Given the description of an element on the screen output the (x, y) to click on. 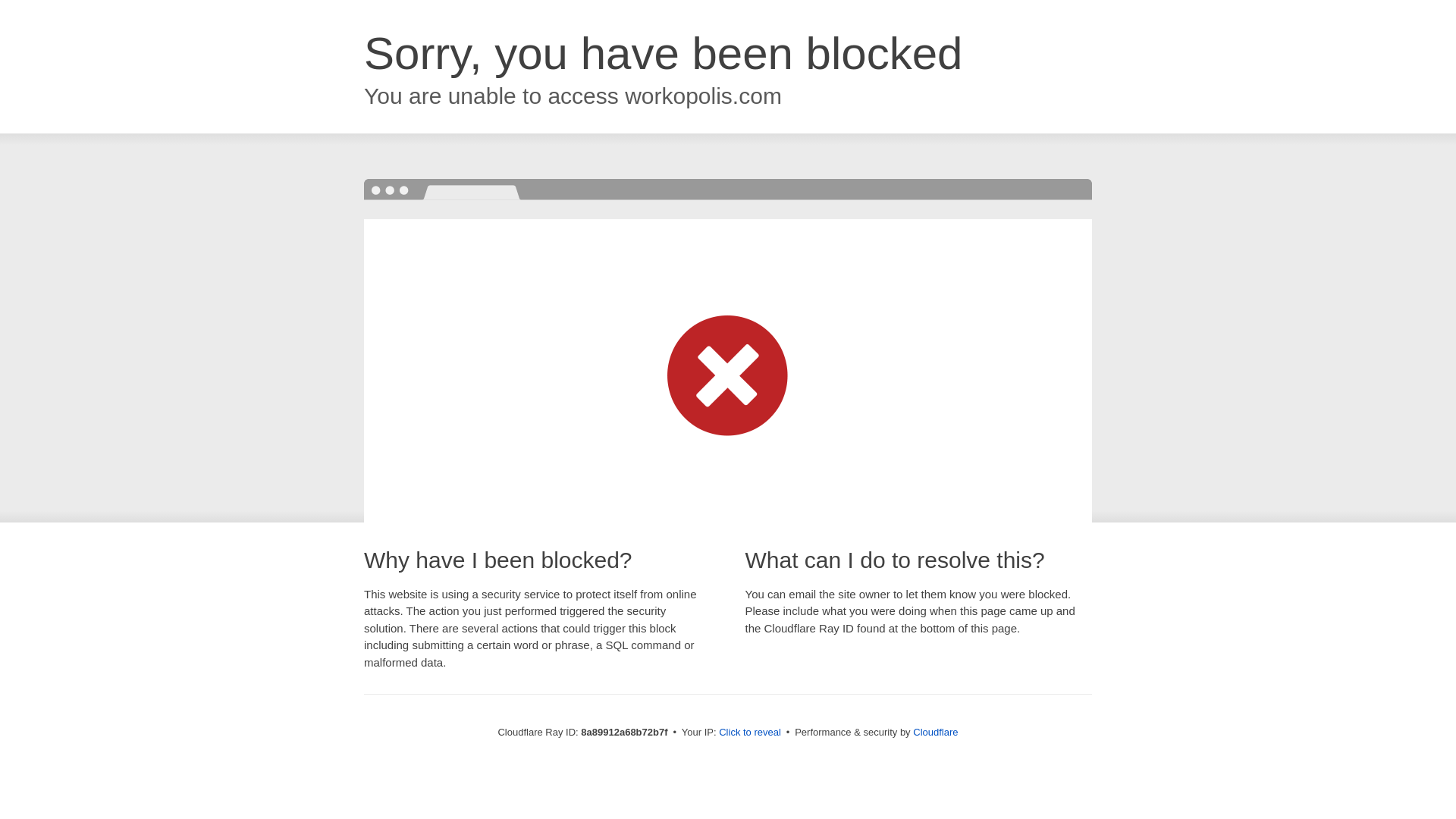
Cloudflare (935, 731)
Click to reveal (749, 732)
